Given the description of an element on the screen output the (x, y) to click on. 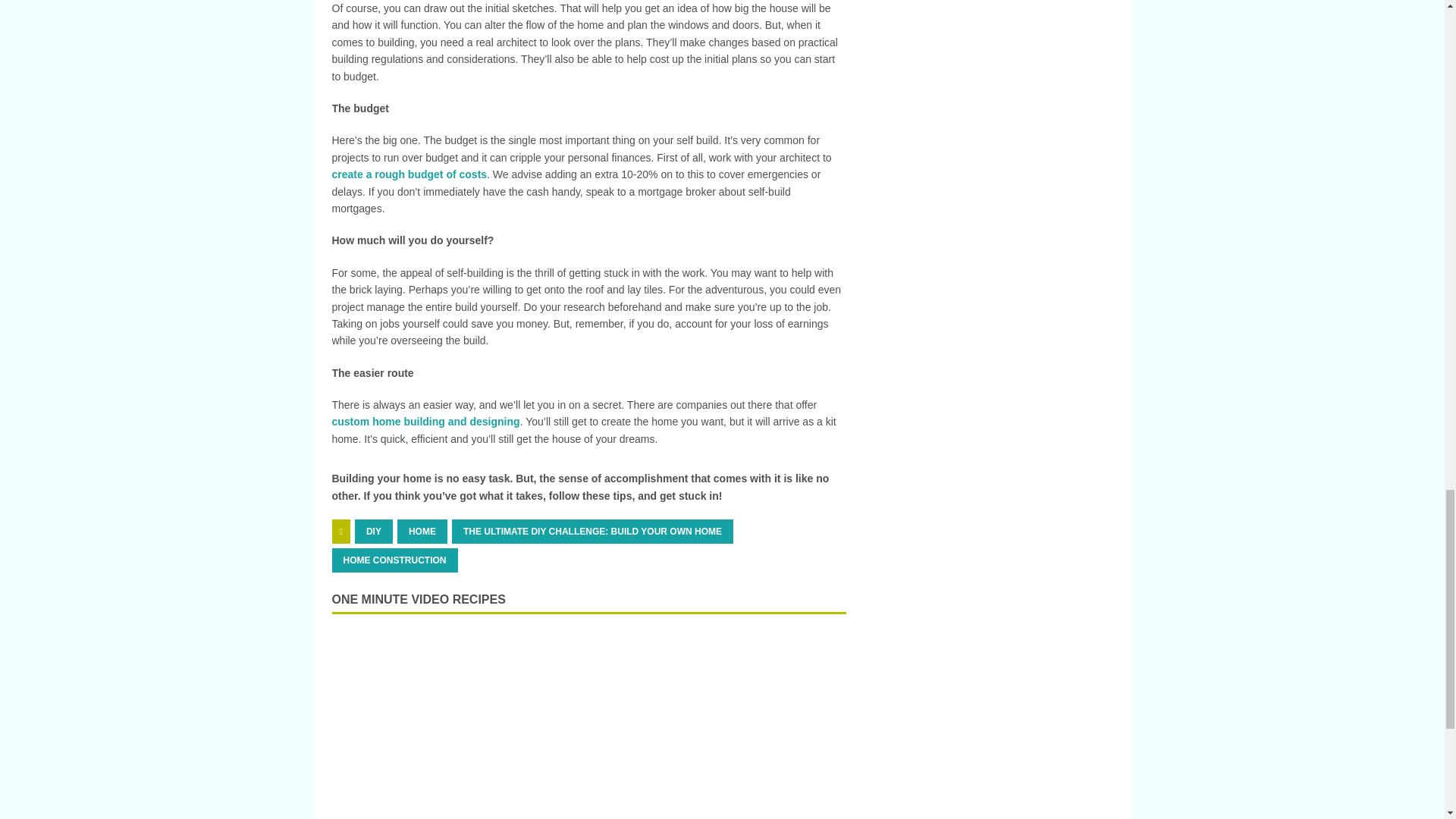
custom home building and designing (425, 421)
THE ULTIMATE DIY CHALLENGE: BUILD YOUR OWN HOME (592, 531)
DIY (374, 531)
create a rough budget of costs (409, 174)
HOME CONSTRUCTION (394, 559)
HOME (421, 531)
YouTube player (588, 724)
